Given the description of an element on the screen output the (x, y) to click on. 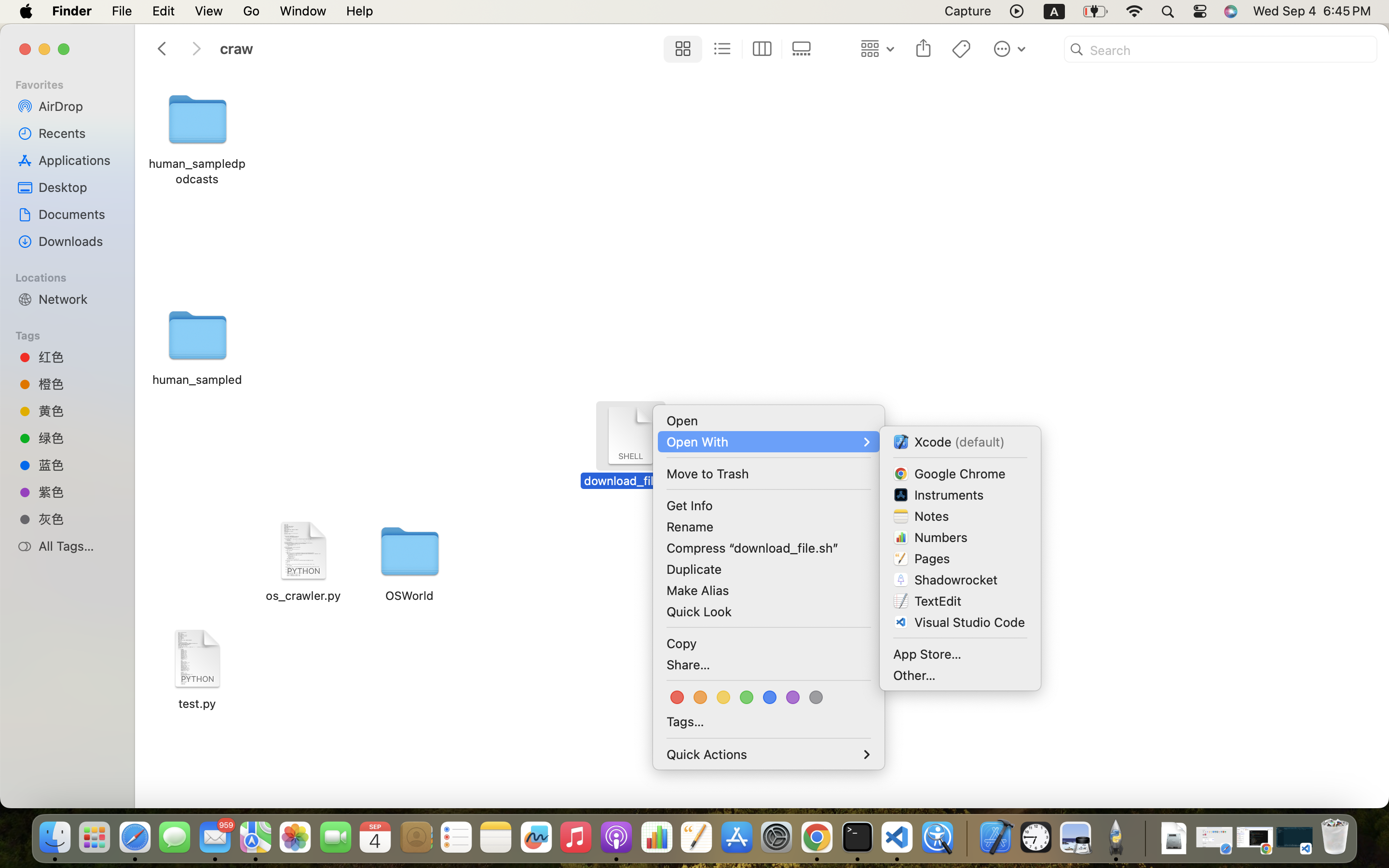
橙色 Element type: AXStaticText (77, 383)
紫色 Element type: AXStaticText (77, 491)
All Tags… Element type: AXStaticText (77, 545)
1 Element type: AXRadioButton (680, 48)
Network Element type: AXStaticText (77, 298)
